Given the description of an element on the screen output the (x, y) to click on. 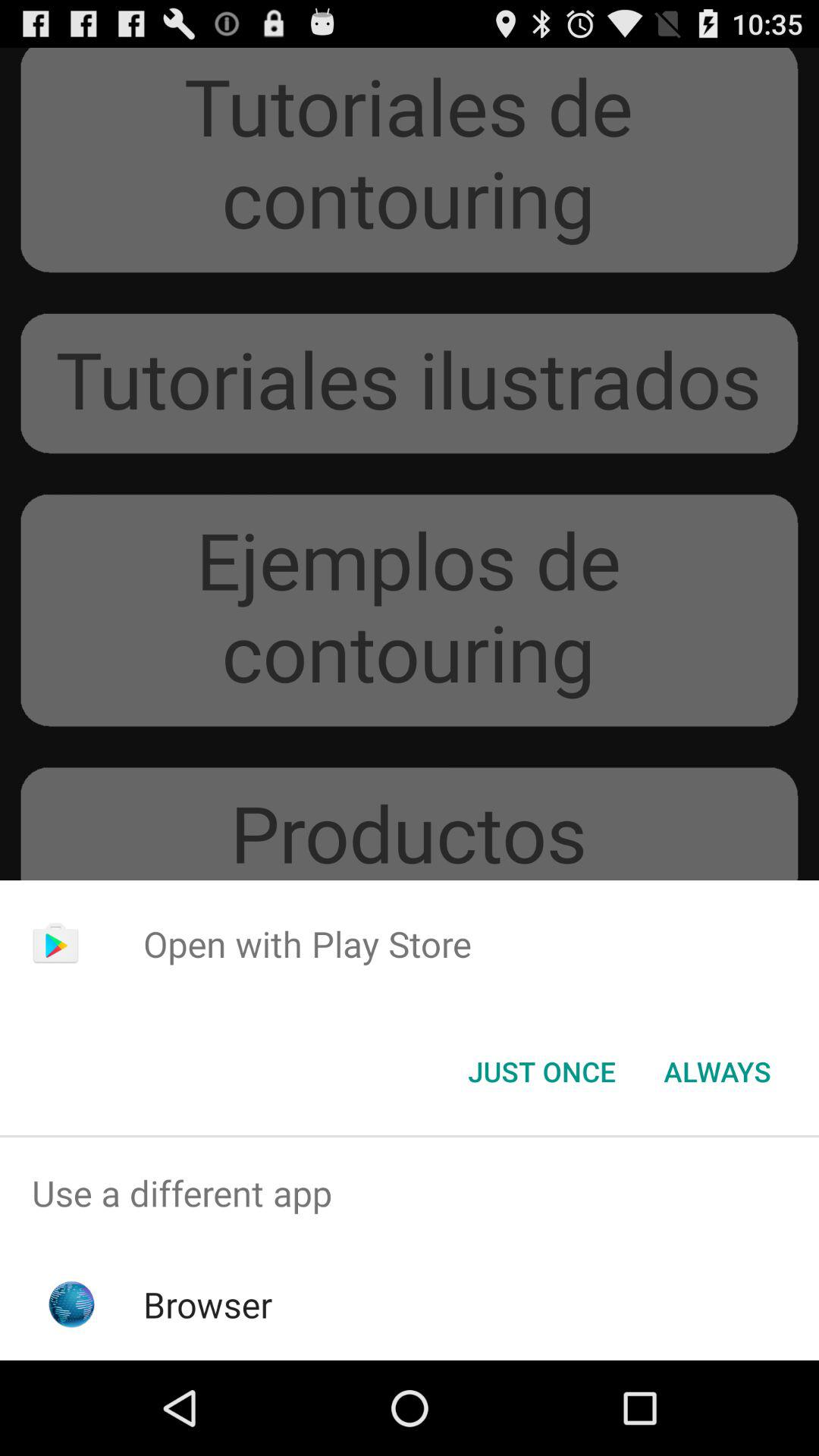
turn off the use a different icon (409, 1192)
